Given the description of an element on the screen output the (x, y) to click on. 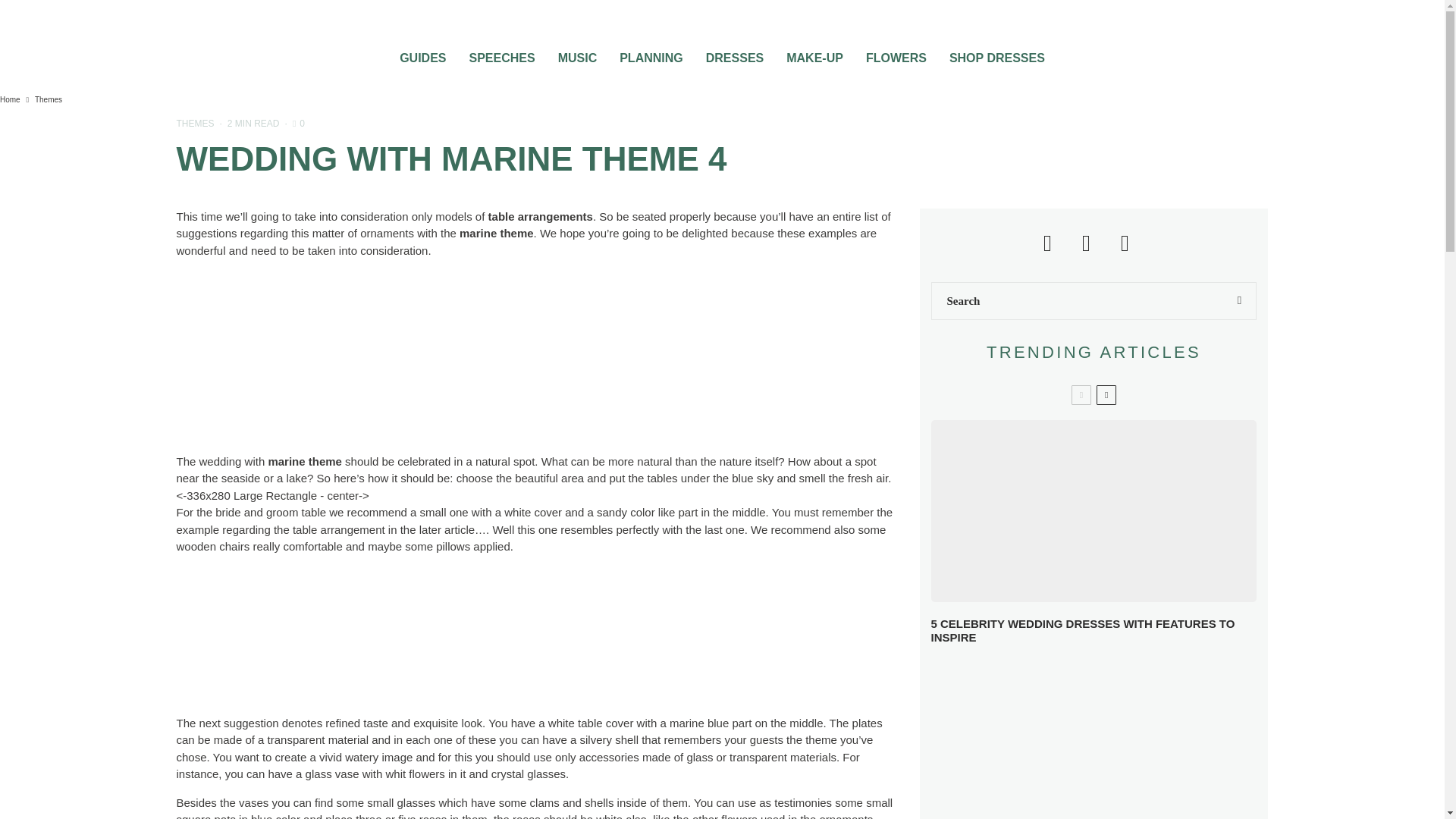
SPEECHES (501, 52)
Wedding Planning (651, 52)
MUSIC (577, 52)
DRESSES (734, 52)
GUIDES (422, 52)
PLANNING (651, 52)
